Given the description of an element on the screen output the (x, y) to click on. 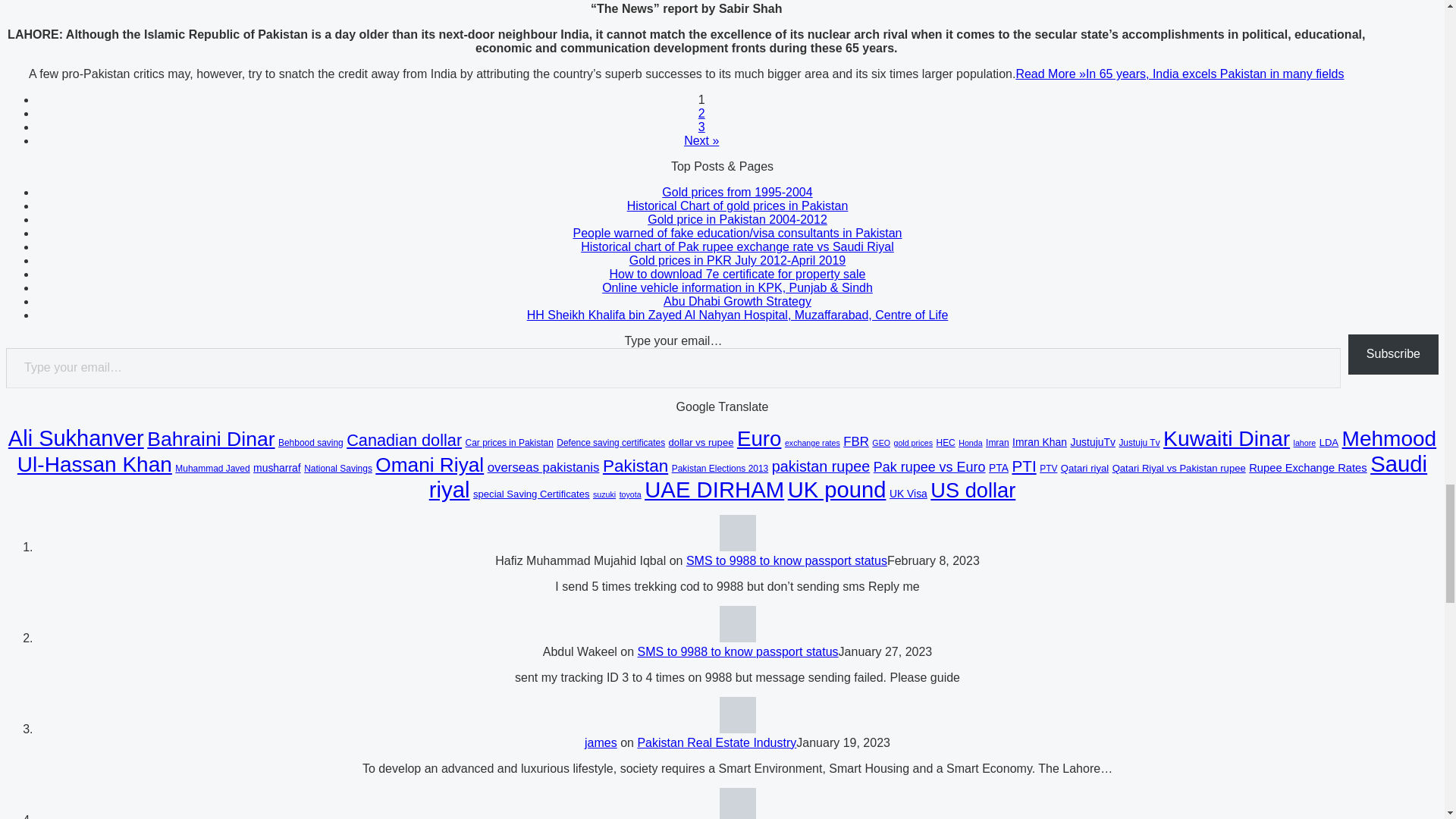
Please fill in this field. (672, 368)
